Given the description of an element on the screen output the (x, y) to click on. 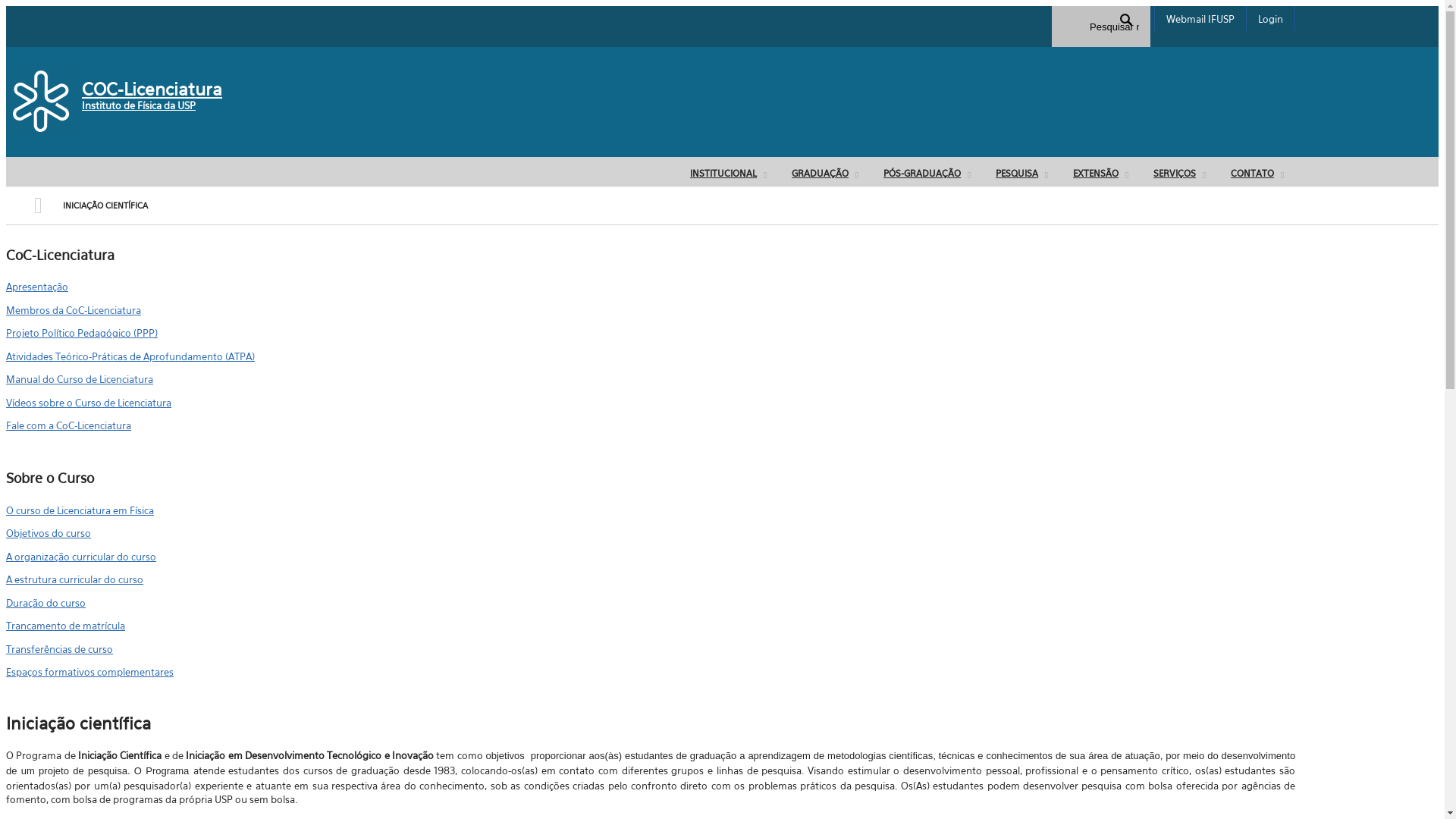
INSTITUCIONAL Element type: text (726, 173)
Login Element type: text (1270, 19)
Manual do Curso de Licenciatura Element type: text (650, 378)
PESQUISA Element type: text (1020, 173)
CONTATO Element type: text (1256, 173)
Membros da CoC-Licenciatura Element type: text (650, 309)
COC-Licenciatura Element type: text (151, 88)
Fale com a CoC-Licenciatura Element type: text (650, 424)
A estrutura curricular do curso Element type: text (650, 578)
Webmail IFUSP Element type: text (1199, 19)
Objetivos do curso Element type: text (650, 532)
